Given the description of an element on the screen output the (x, y) to click on. 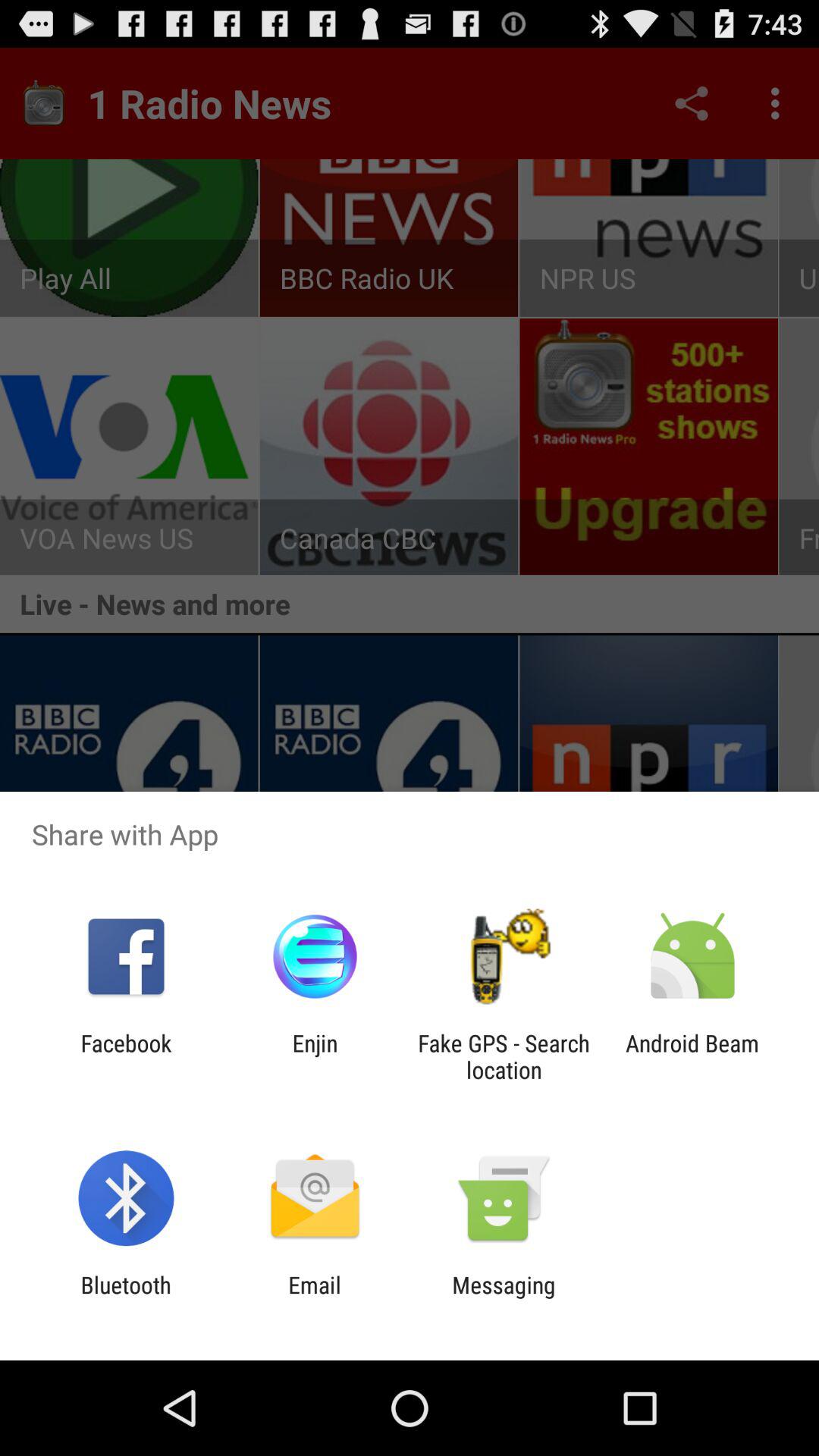
turn on the item next to the fake gps search (314, 1056)
